Given the description of an element on the screen output the (x, y) to click on. 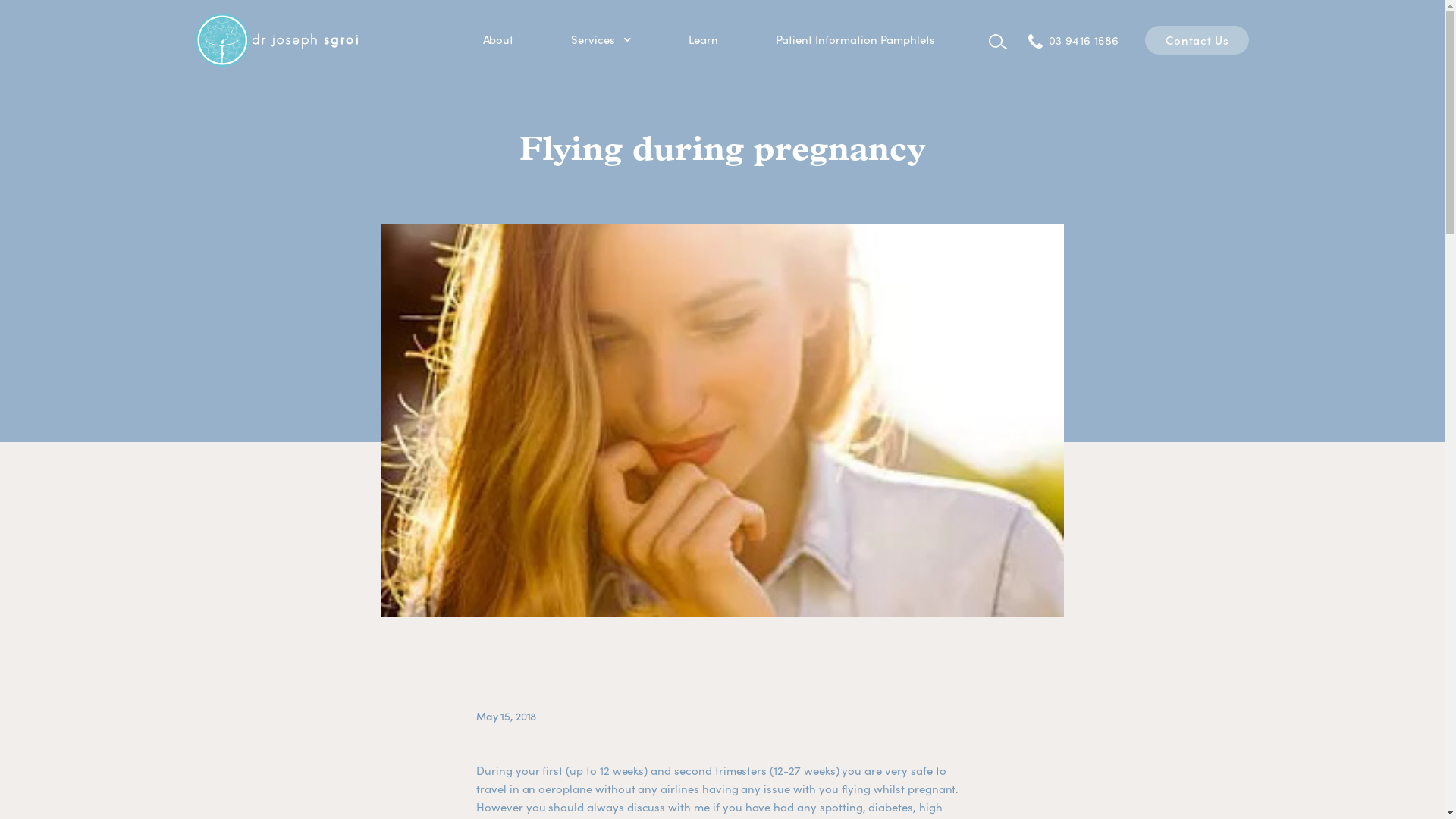
Search Element type: hover (997, 41)
About Element type: text (497, 39)
Learn Element type: text (703, 39)
Contact Us Element type: text (1196, 39)
Dr Joseph Sgroi Element type: hover (276, 39)
Patient Information Pamphlets Element type: text (855, 39)
03 9416 1586 Element type: text (1070, 39)
Services Element type: text (593, 39)
